Given the description of an element on the screen output the (x, y) to click on. 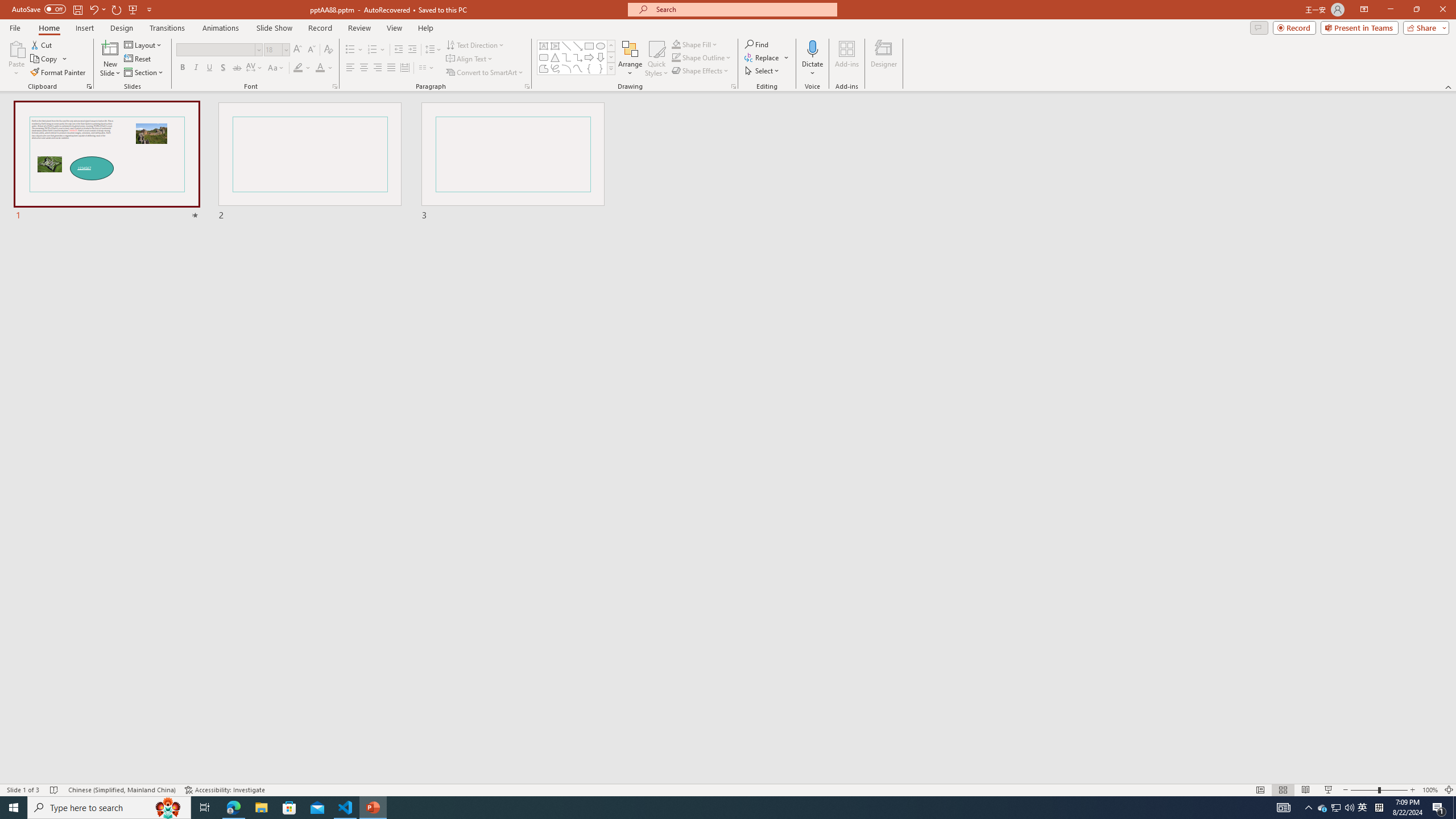
Zoom 100% (1430, 790)
